Given the description of an element on the screen output the (x, y) to click on. 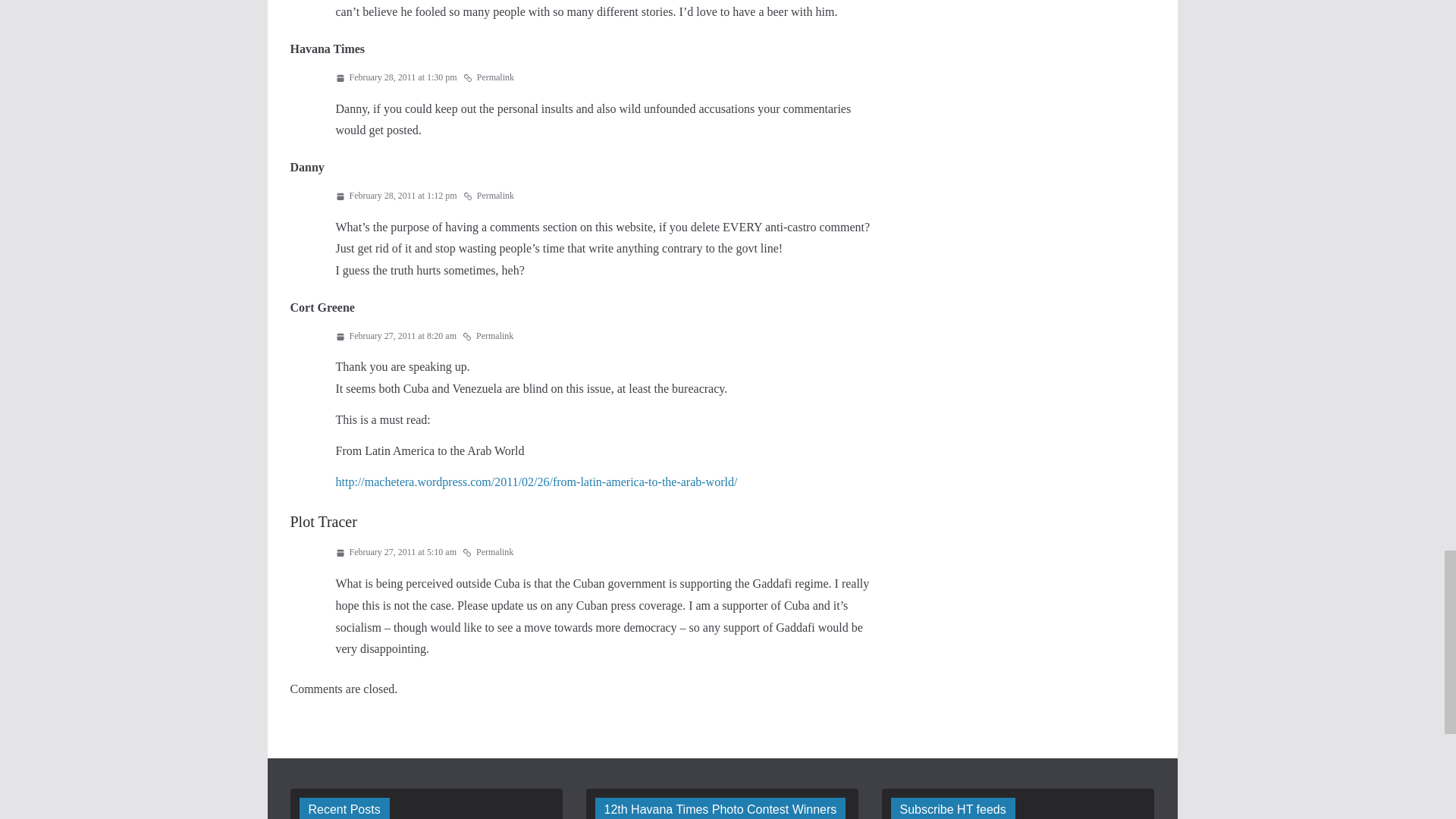
Permalink (488, 336)
Permalink (488, 552)
Permalink (488, 77)
Permalink (488, 196)
Plot Tracer (322, 521)
